Given the description of an element on the screen output the (x, y) to click on. 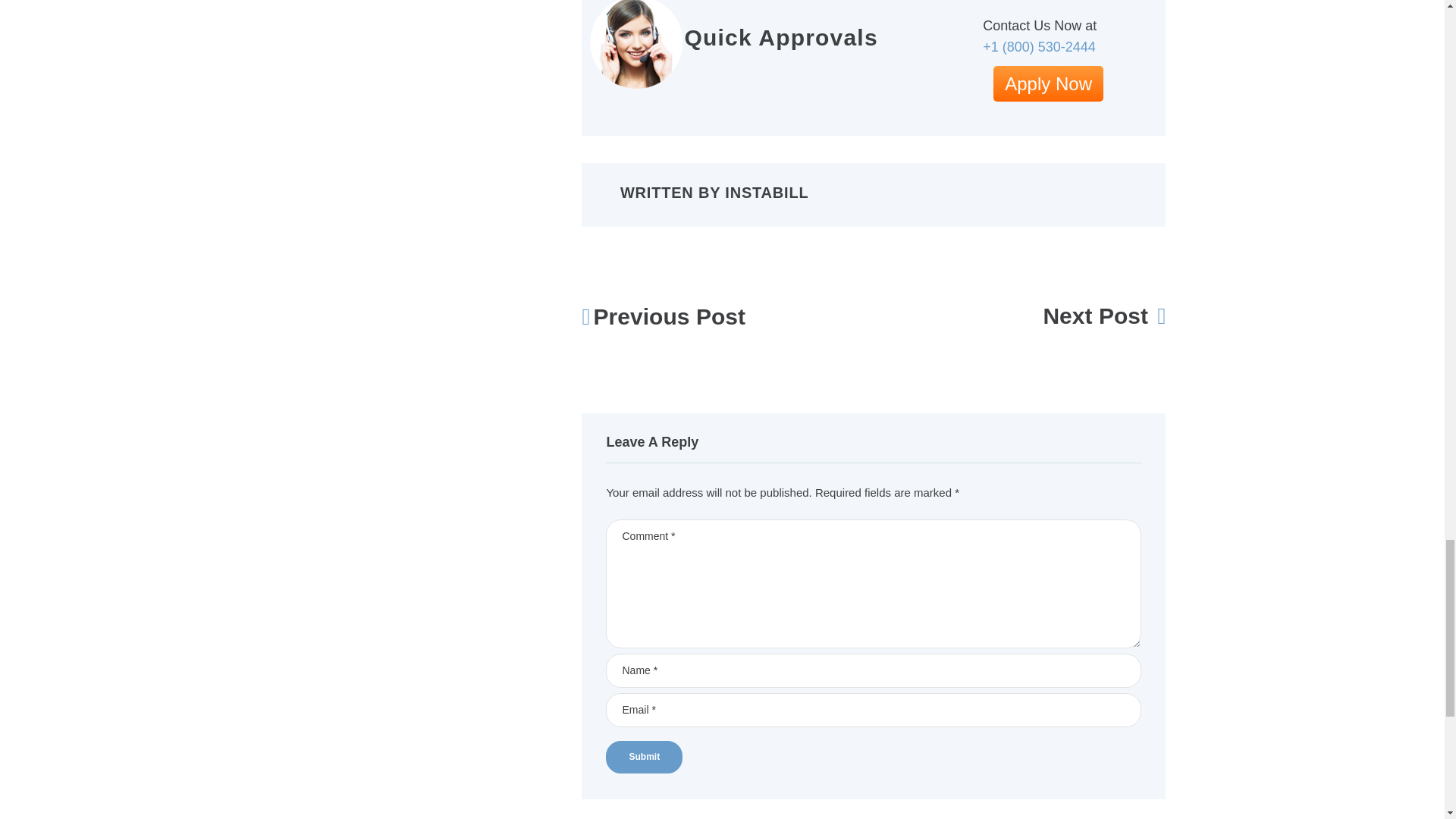
Submit (643, 757)
